Given the description of an element on the screen output the (x, y) to click on. 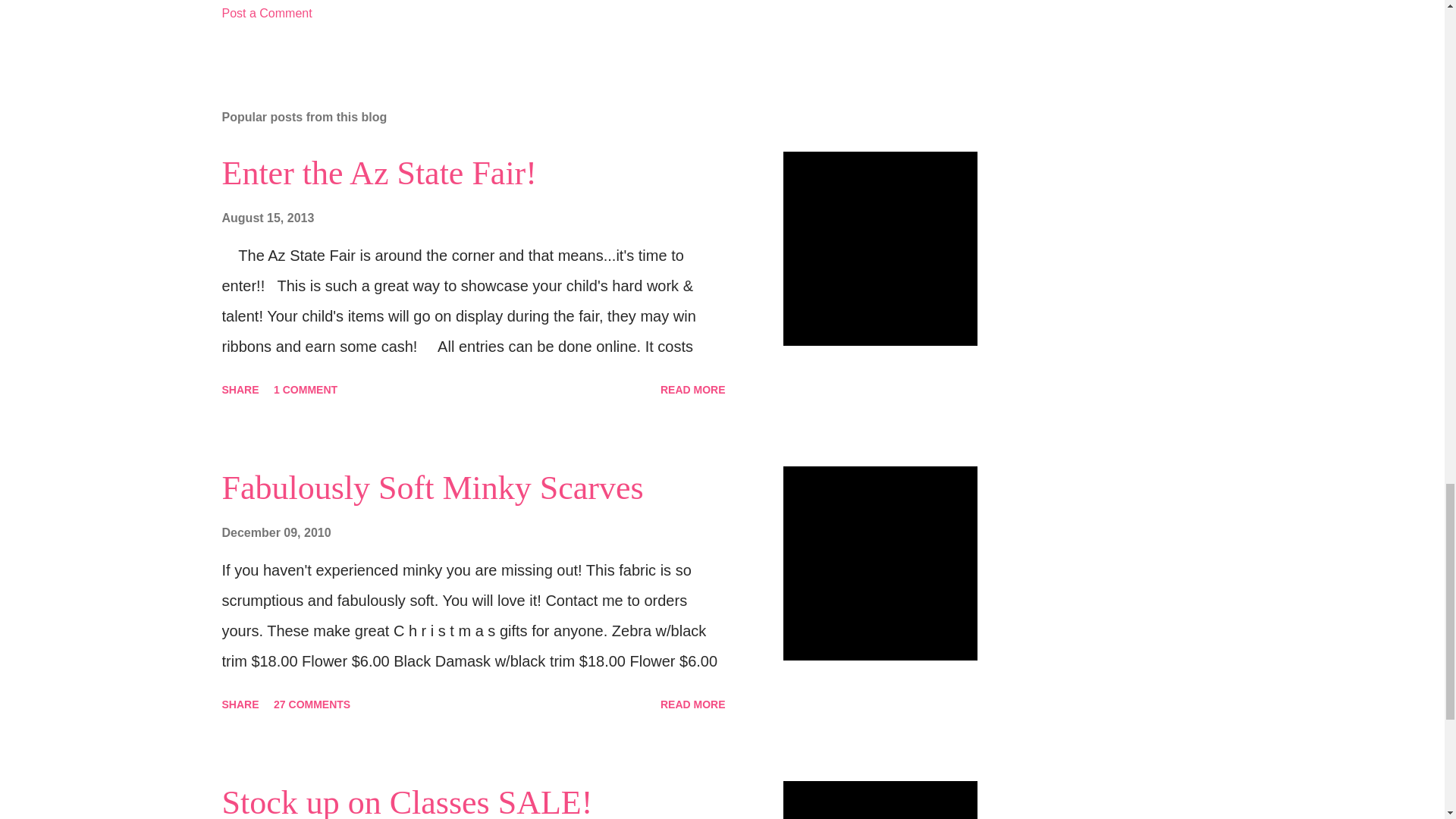
August 15, 2013 (267, 217)
SHARE (239, 704)
27 COMMENTS (311, 704)
READ MORE (692, 704)
1 COMMENT (305, 389)
SHARE (239, 389)
permanent link (267, 217)
READ MORE (692, 389)
Enter the Az State Fair! (378, 172)
Fabulously Soft Minky Scarves (432, 487)
December 09, 2010 (275, 532)
Post a Comment (266, 12)
Stock up on Classes SALE! (406, 801)
